Given the description of an element on the screen output the (x, y) to click on. 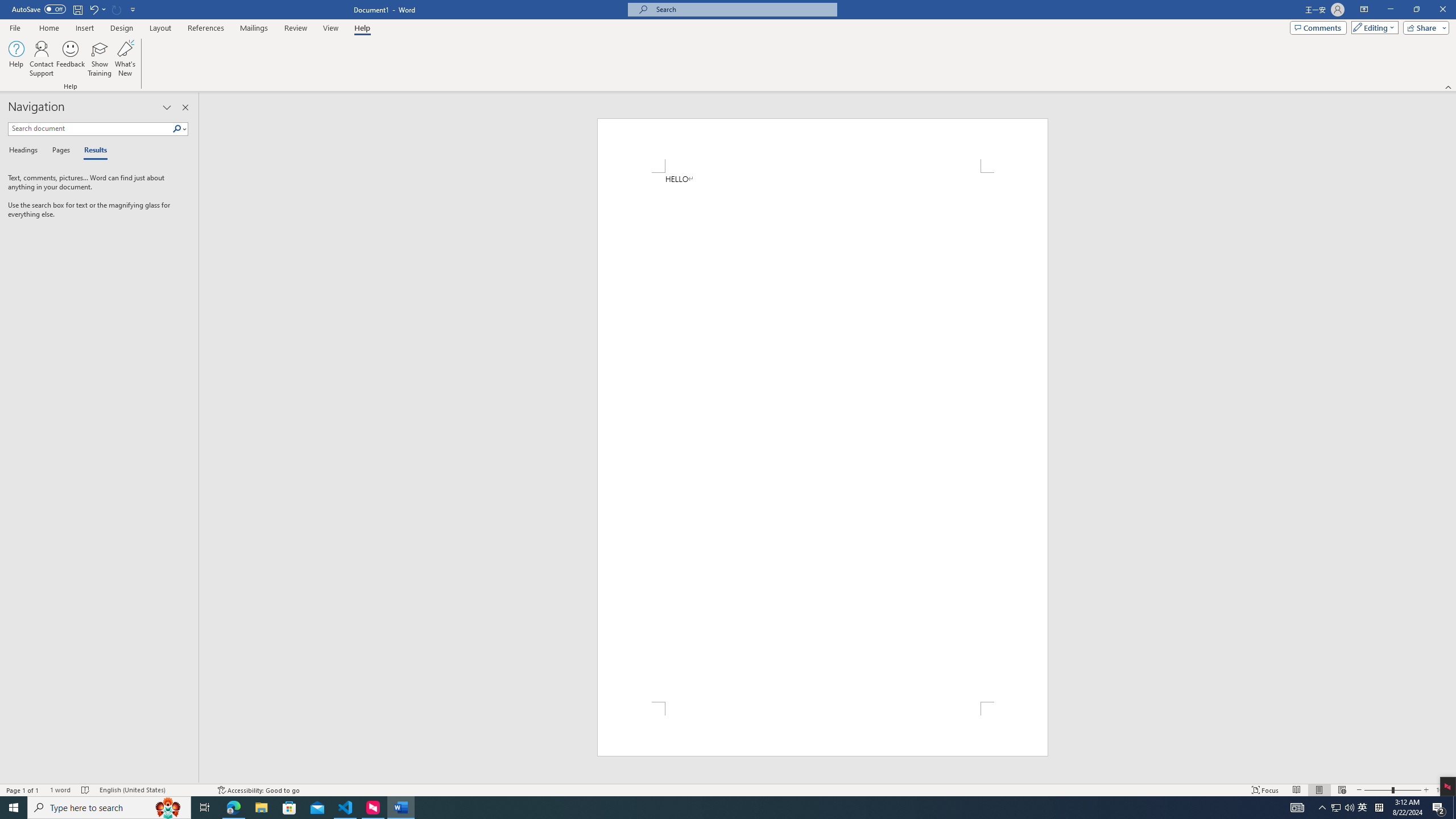
Class: NetUIScrollBar (1450, 437)
Page Number Page 1 of 1 (22, 790)
Language English (United States) (152, 790)
Zoom 100% (1443, 790)
System (6, 6)
File Tab (15, 27)
References (205, 28)
Search document (89, 128)
System (6, 6)
Mode (1372, 27)
Web Layout (1342, 790)
Results (91, 150)
Share (1423, 27)
Insert (83, 28)
Ribbon Display Options (1364, 9)
